Given the description of an element on the screen output the (x, y) to click on. 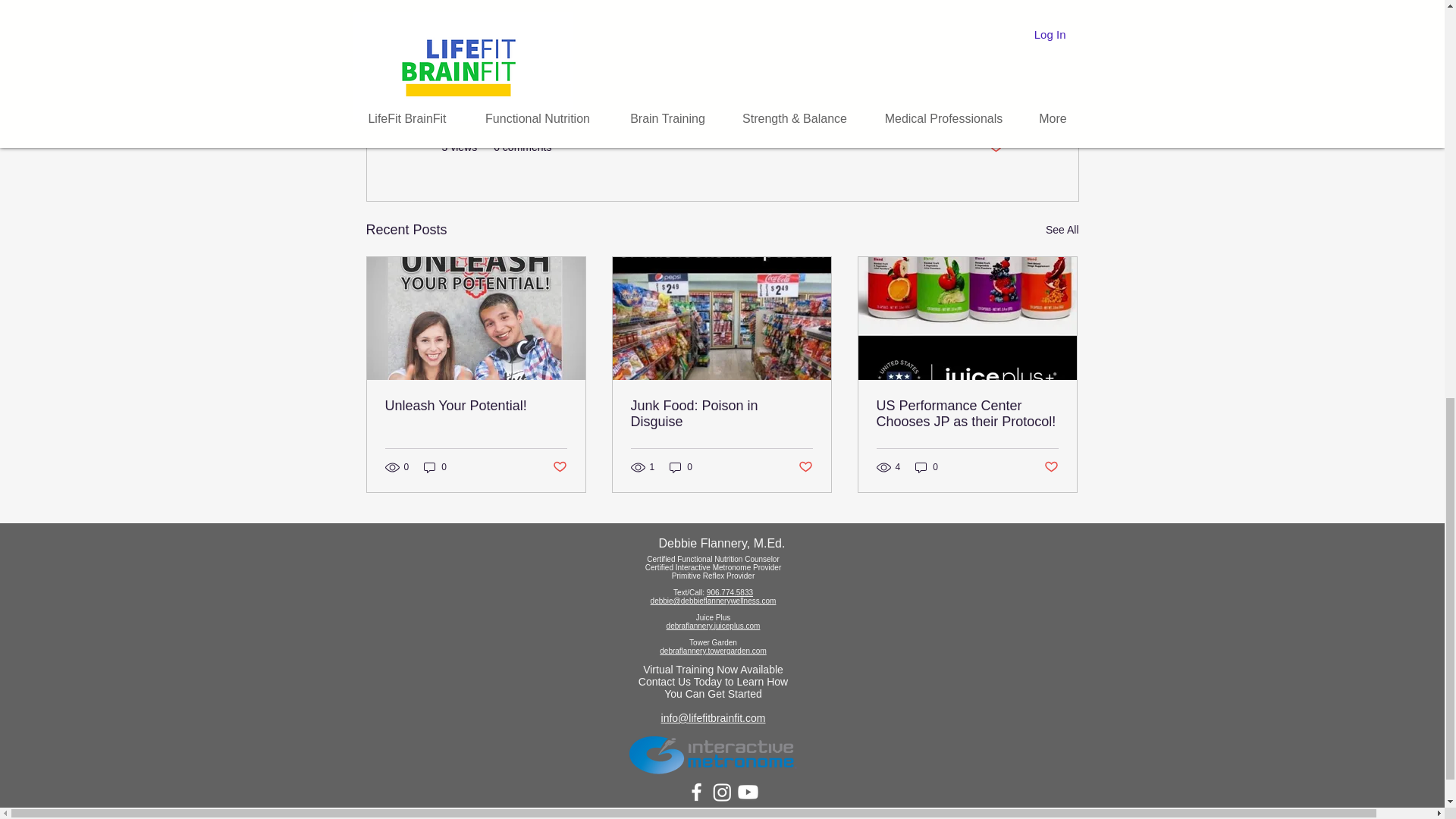
Post not marked as liked (995, 147)
im-logo.png (712, 753)
See All (1061, 229)
Junk Food: Poison in Disguise (721, 413)
Post not marked as liked (558, 467)
Post not marked as liked (804, 467)
0 (681, 466)
0 (435, 466)
Unleash Your Potential! (476, 406)
